Given the description of an element on the screen output the (x, y) to click on. 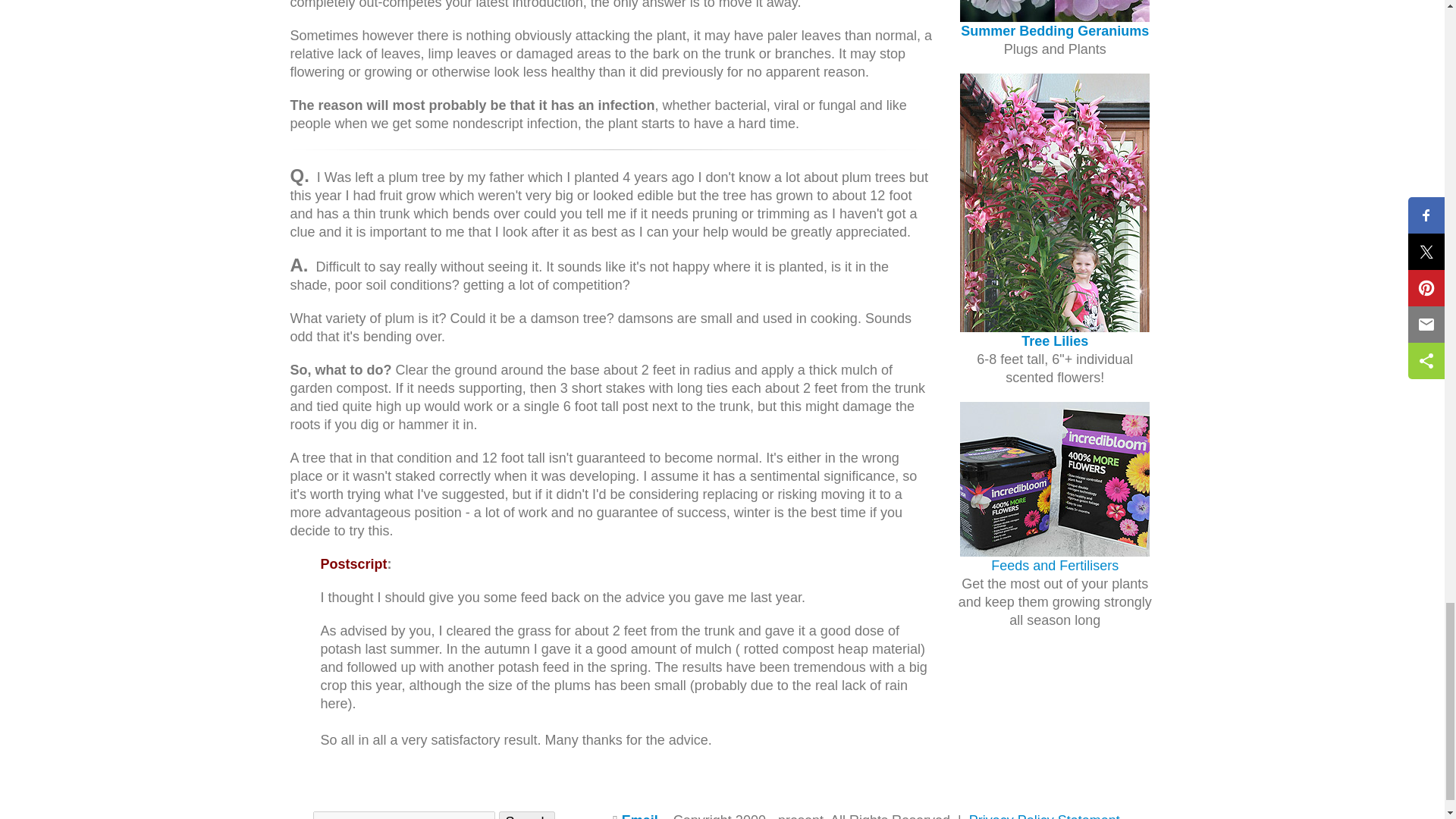
Search (526, 815)
